Given the description of an element on the screen output the (x, y) to click on. 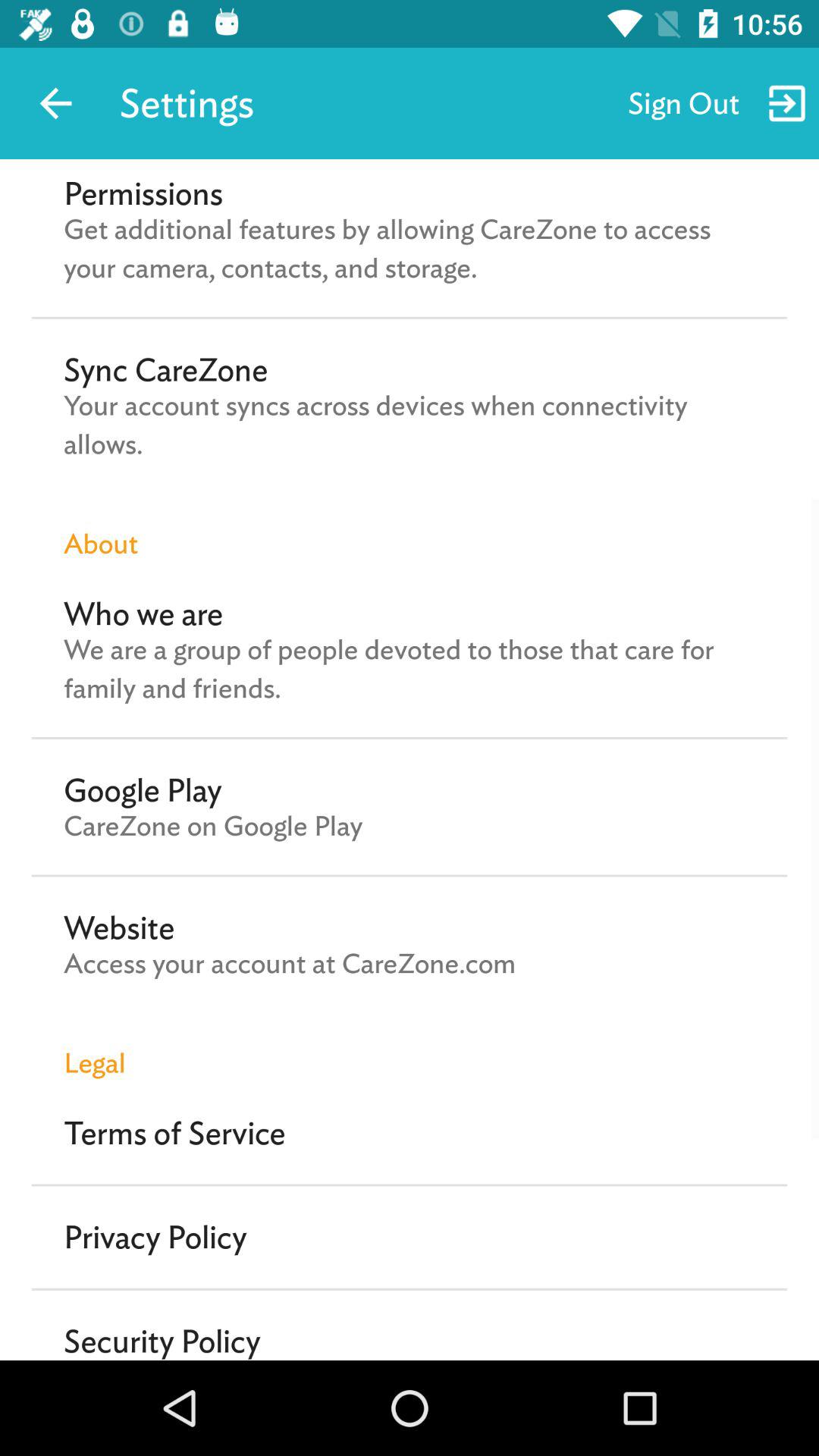
turn on the icon to the left of the settings item (55, 103)
